Given the description of an element on the screen output the (x, y) to click on. 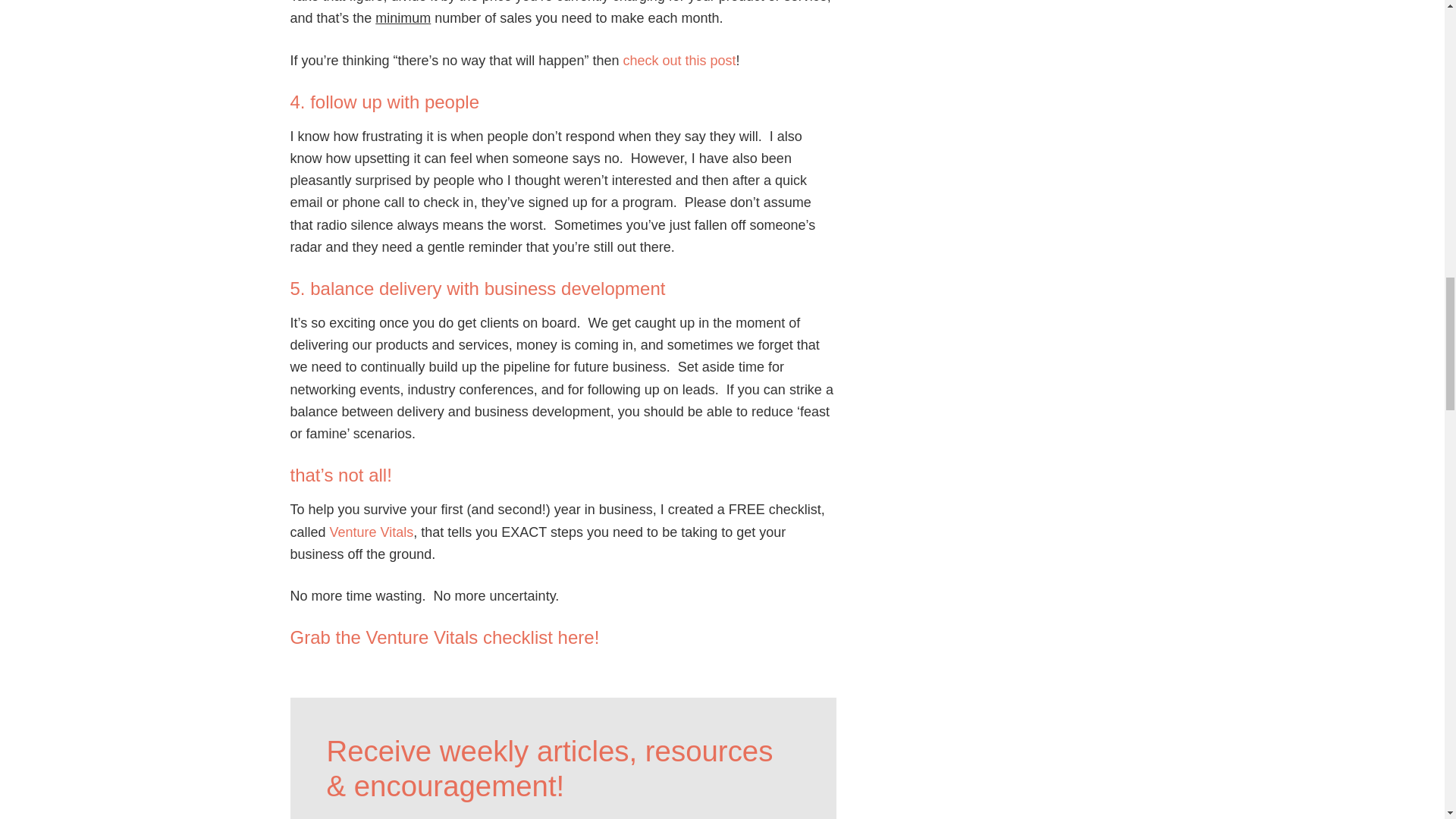
check out this post (679, 60)
Venture Vitals (371, 531)
here (575, 637)
